Given the description of an element on the screen output the (x, y) to click on. 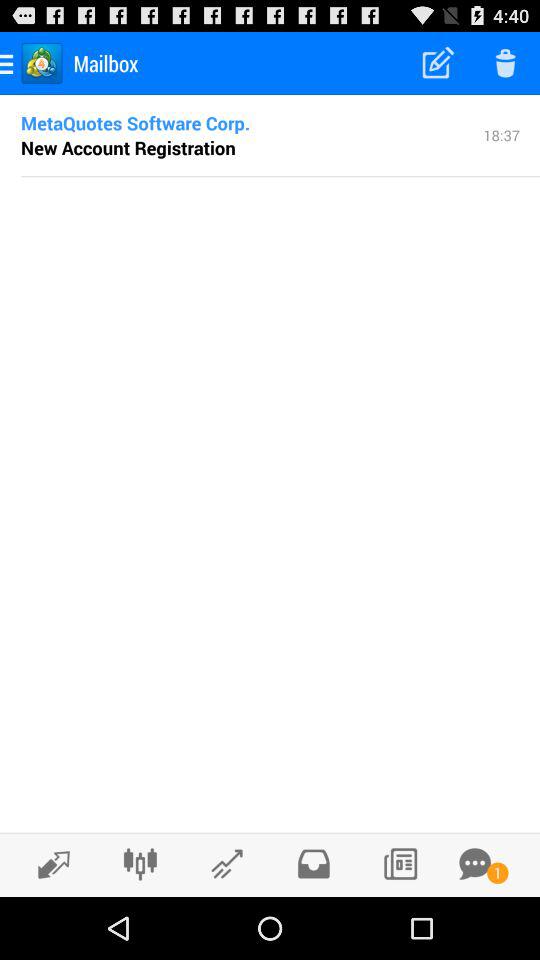
click metaquotes software corp. (135, 122)
